Given the description of an element on the screen output the (x, y) to click on. 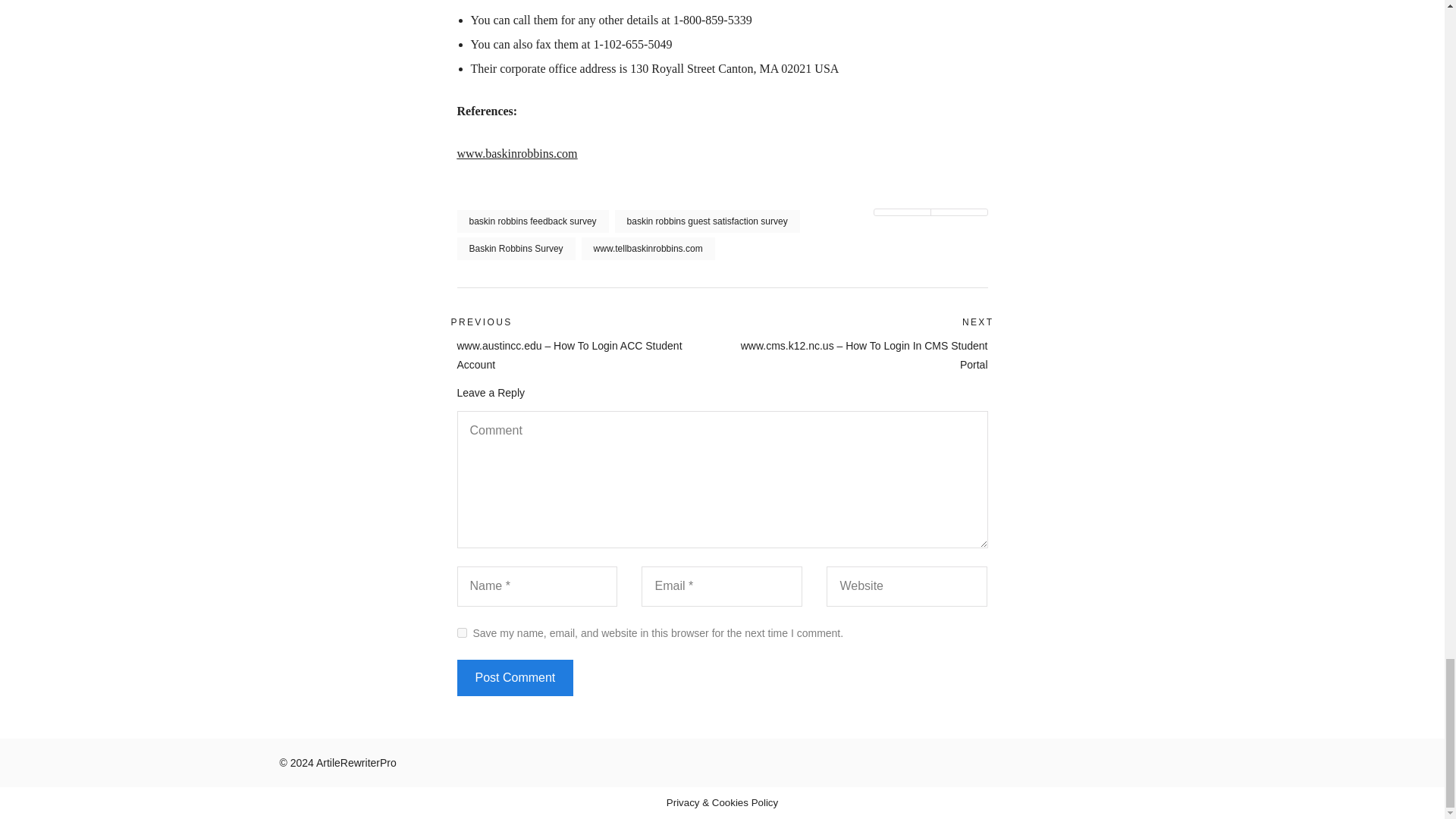
baskin robbins guest satisfaction survey (706, 220)
www.tellbaskinrobbins.com (647, 248)
www.baskinrobbins.com (516, 153)
Share on Facebook (959, 212)
Post Comment (515, 678)
baskin robbins feedback survey (532, 220)
Post Comment (515, 678)
yes (461, 633)
Baskin Robbins Survey (516, 248)
ArtileRewriterPro (355, 762)
